Given the description of an element on the screen output the (x, y) to click on. 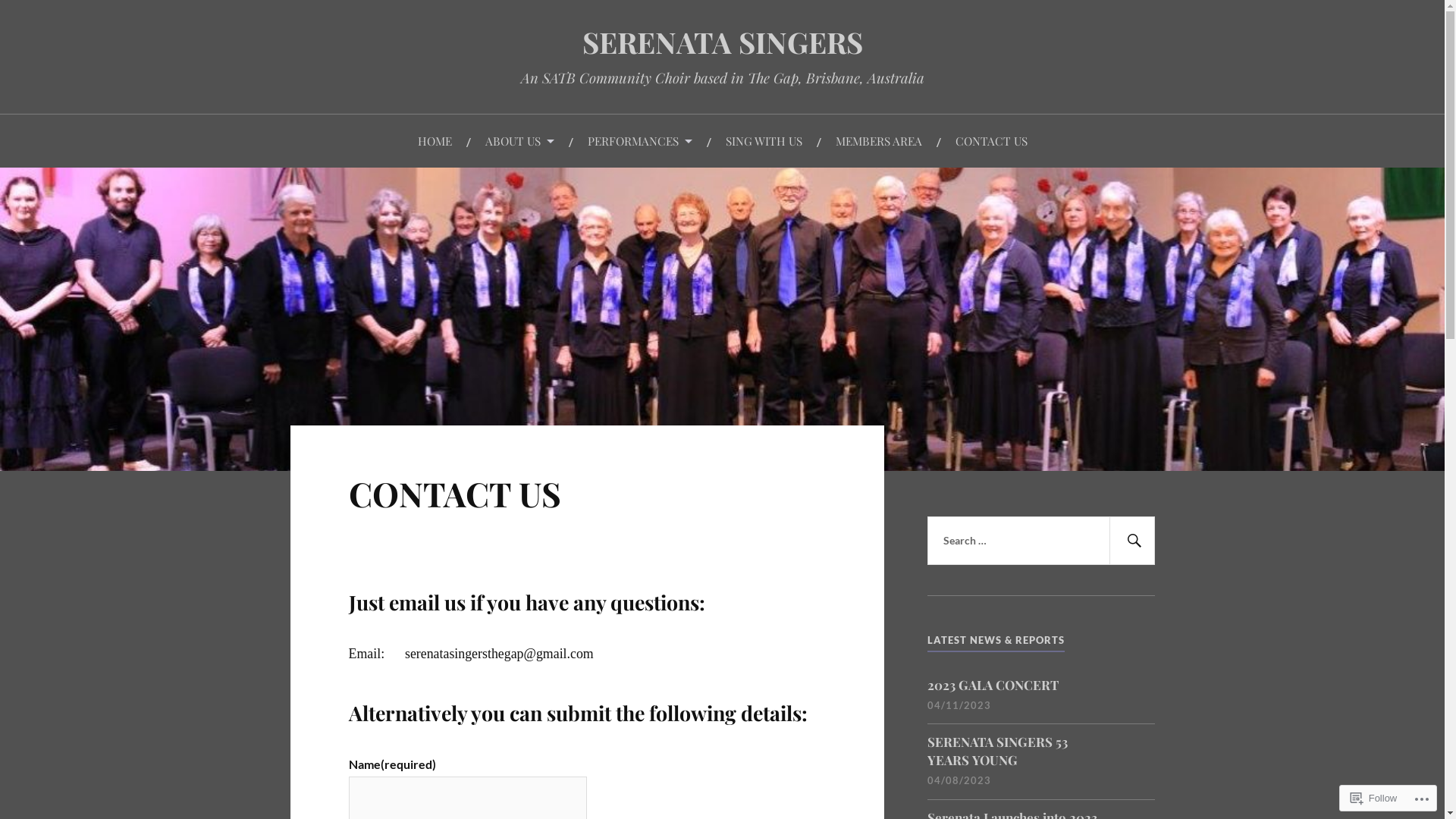
MEMBERS AREA Element type: text (878, 140)
SERENATA SINGERS Element type: text (722, 41)
PERFORMANCES Element type: text (638, 140)
2023 GALA CONCERT Element type: text (992, 685)
Search for: Element type: hover (1040, 540)
Follow Element type: text (1373, 797)
SING WITH US Element type: text (762, 140)
SERENATA SINGERS 53 YEARS YOUNG Element type: text (1040, 751)
CONTACT US Element type: text (991, 140)
ABOUT US Element type: text (519, 140)
HOME Element type: text (434, 140)
